Given the description of an element on the screen output the (x, y) to click on. 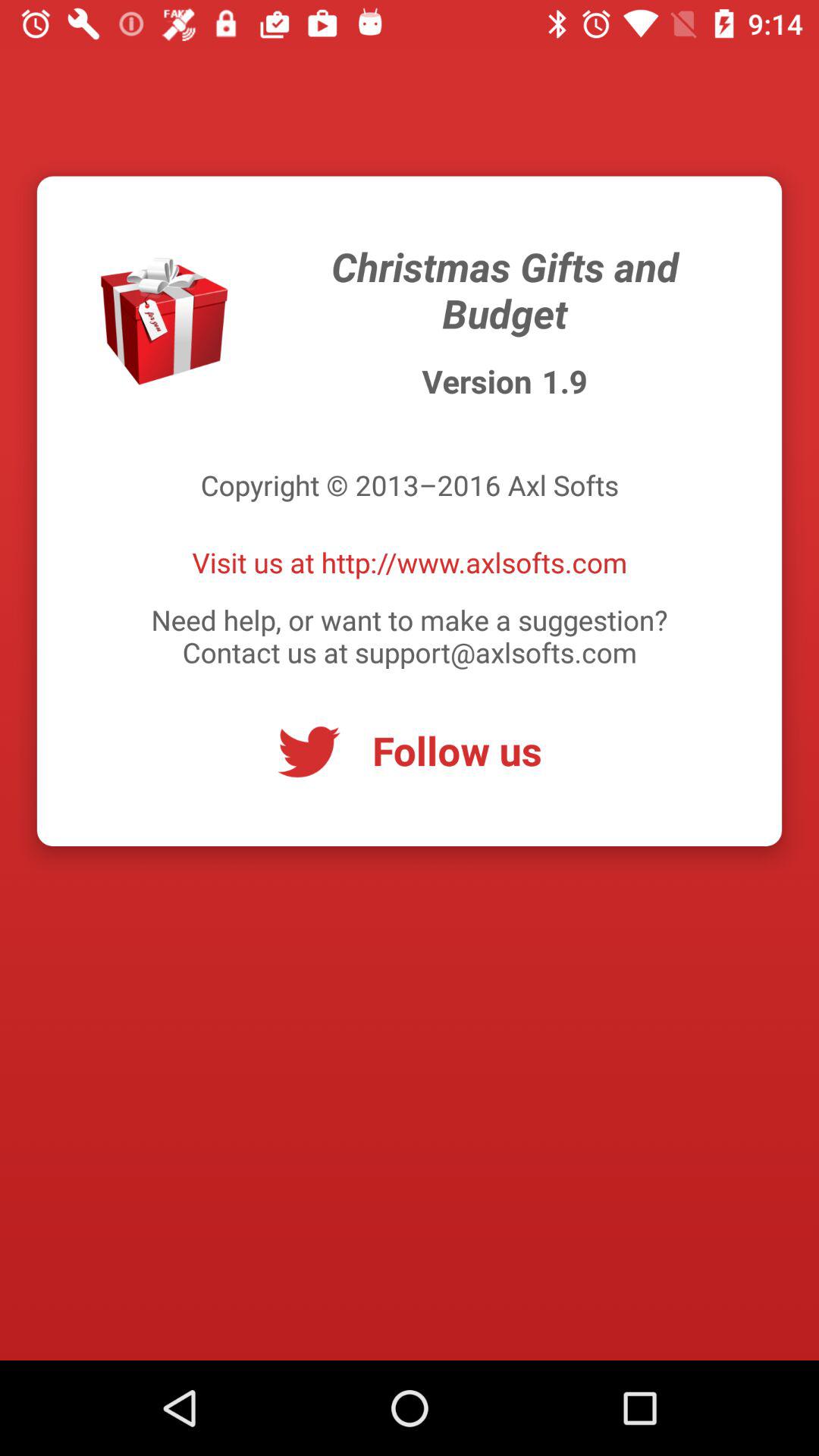
turn on the item below the visit us at icon (409, 636)
